Given the description of an element on the screen output the (x, y) to click on. 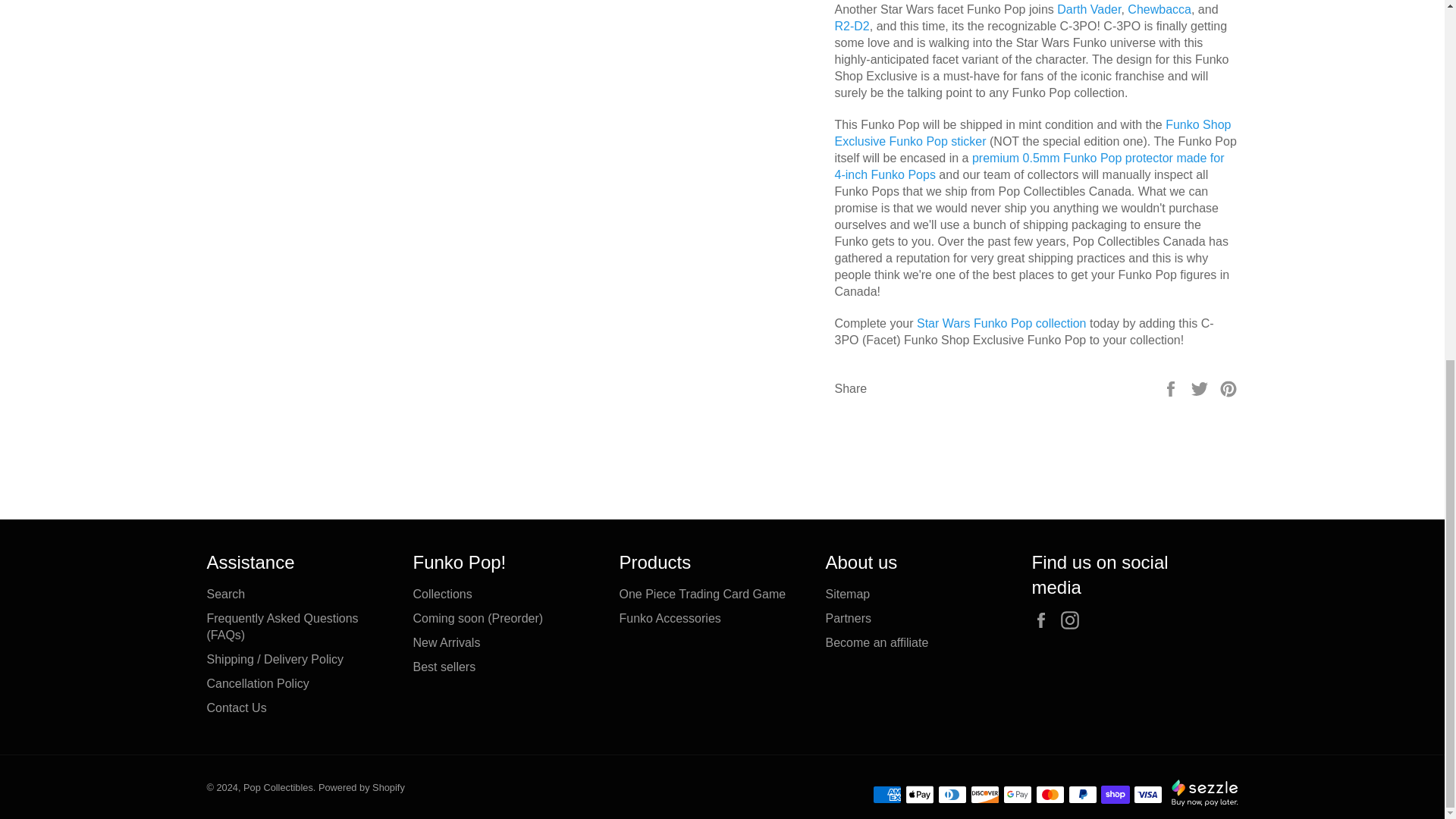
Pin on Pinterest (1228, 387)
Share on Facebook (1171, 387)
Pop Collectibles on Facebook (1043, 619)
Tweet on Twitter (1201, 387)
Pop Collectibles on Instagram (1073, 619)
